Given the description of an element on the screen output the (x, y) to click on. 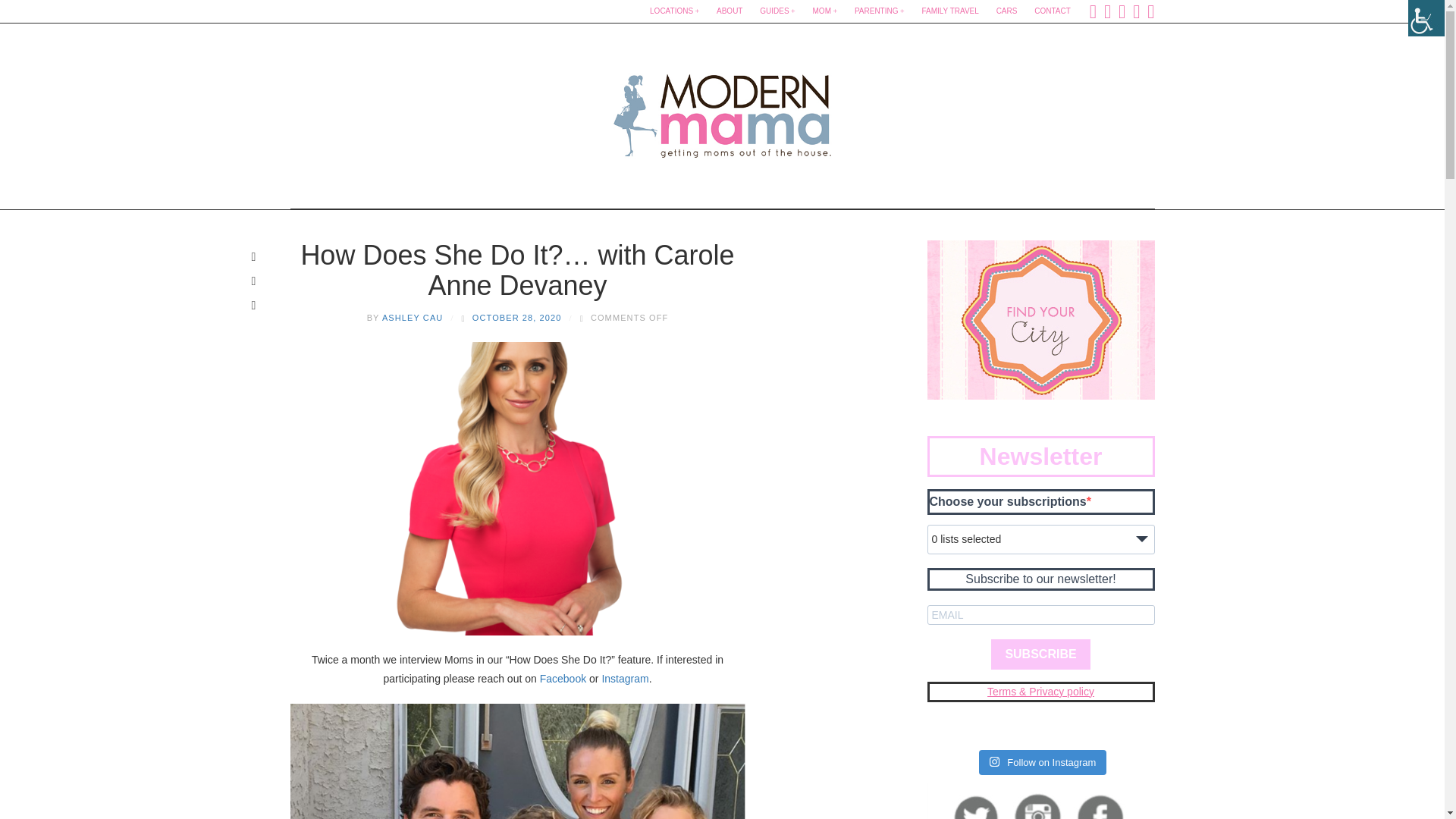
CONTACT (1052, 11)
GUIDES (777, 11)
CARS (1006, 11)
View all posts by Ashley Cau (412, 317)
LOCATIONS (674, 11)
ASHLEY CAU (412, 317)
MOM (825, 11)
FAMILY TRAVEL (949, 11)
9:00 am (516, 317)
PARENTING (879, 11)
